Given the description of an element on the screen output the (x, y) to click on. 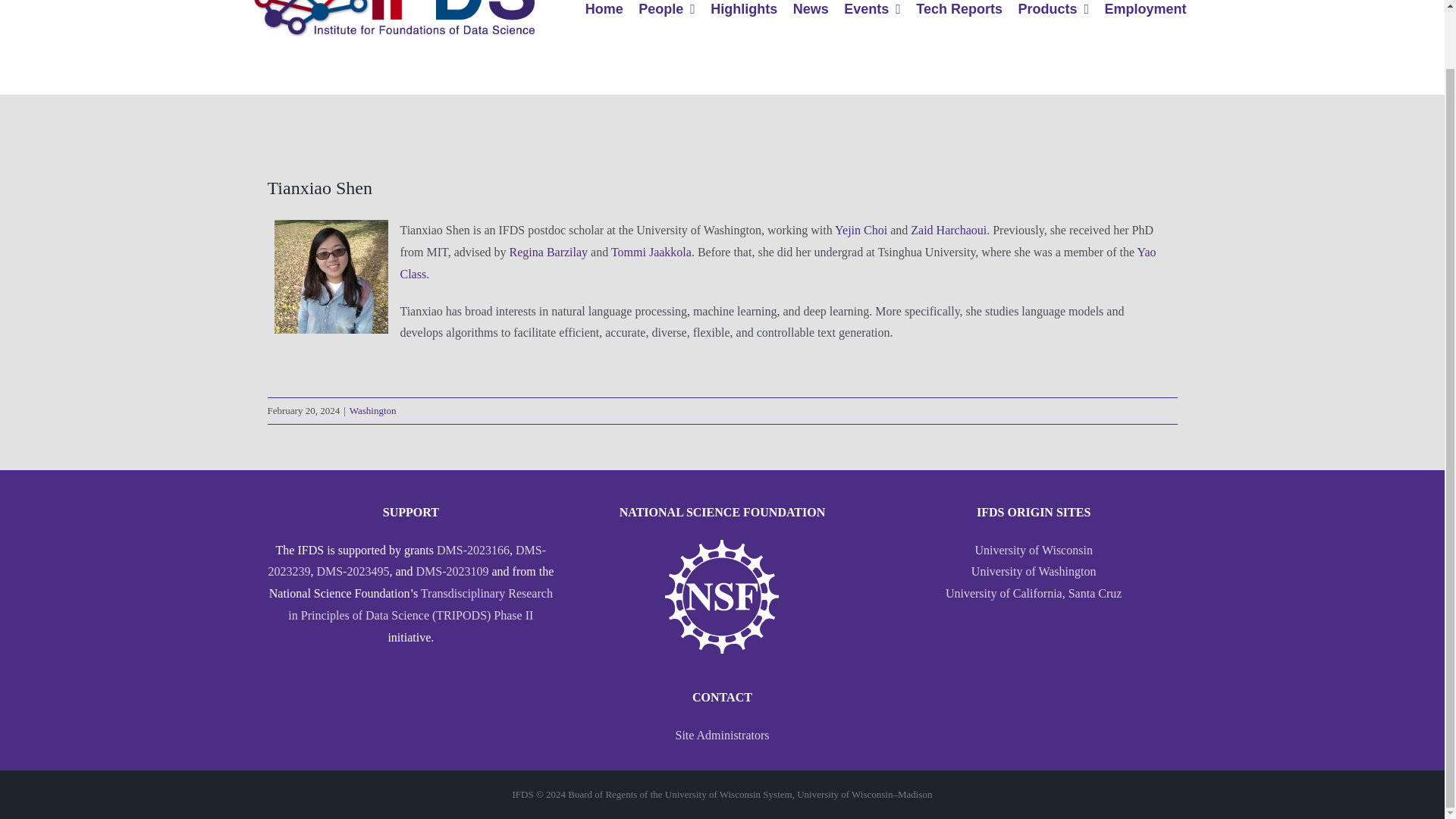
DMS-2023239 (406, 560)
Regina Barzilay (548, 251)
Events (872, 9)
Employment (1145, 9)
Tommi Jaakkola (651, 251)
DMS-2023109 (450, 571)
DMS-2023495 (351, 571)
Zaid Harchaoui (949, 229)
Products (1053, 9)
DMS-2023166 (472, 549)
Home (604, 9)
Tech Reports (959, 9)
Yao Class (777, 262)
News (810, 9)
